Given the description of an element on the screen output the (x, y) to click on. 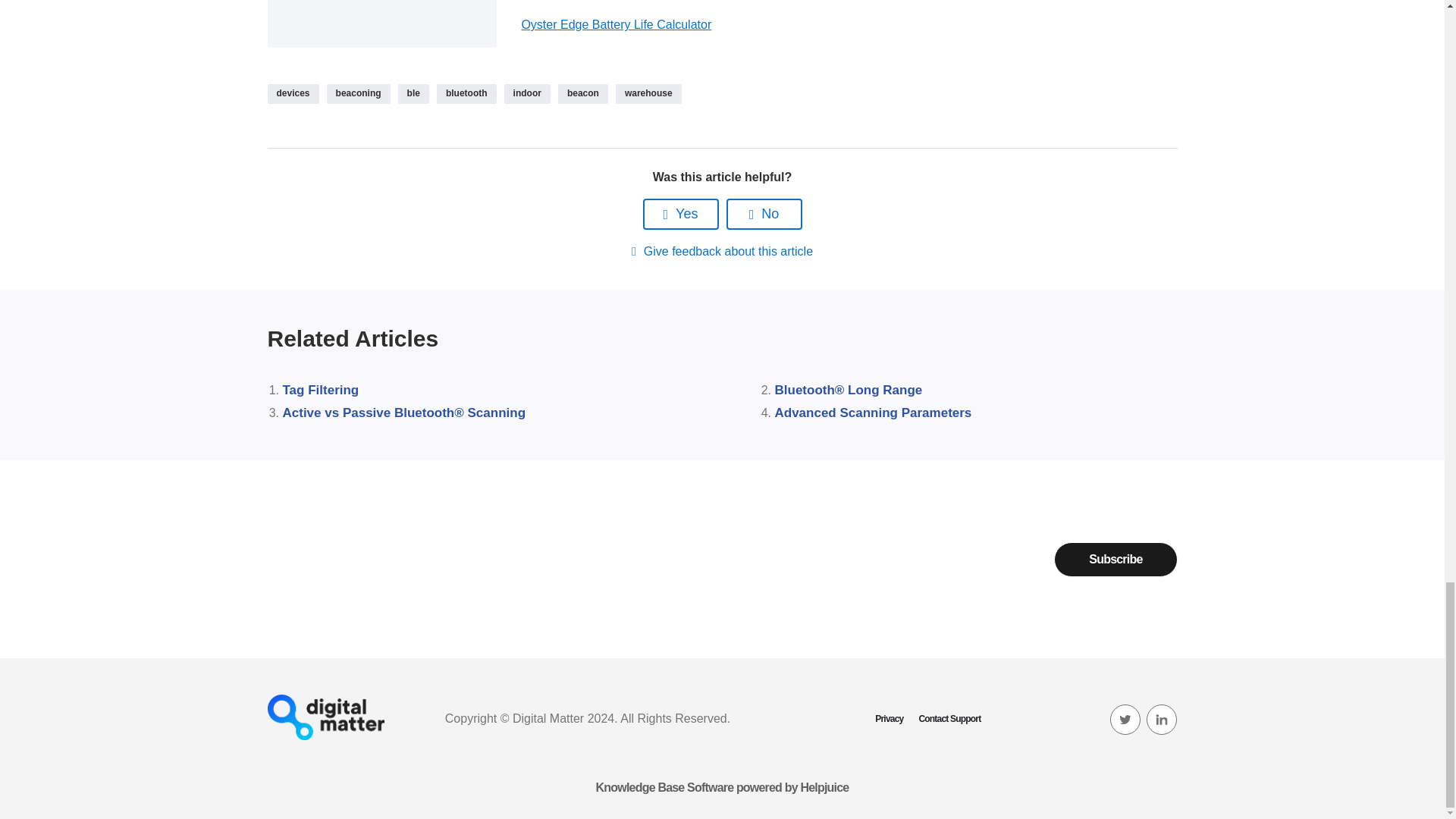
Yes (681, 214)
Subscribe (1115, 559)
beacon (582, 94)
beaconing (358, 94)
Give feedback about this article (721, 251)
bluetooth (466, 94)
Contact Support (940, 719)
ble (413, 94)
warehouse (648, 94)
indoor (526, 94)
